Given the description of an element on the screen output the (x, y) to click on. 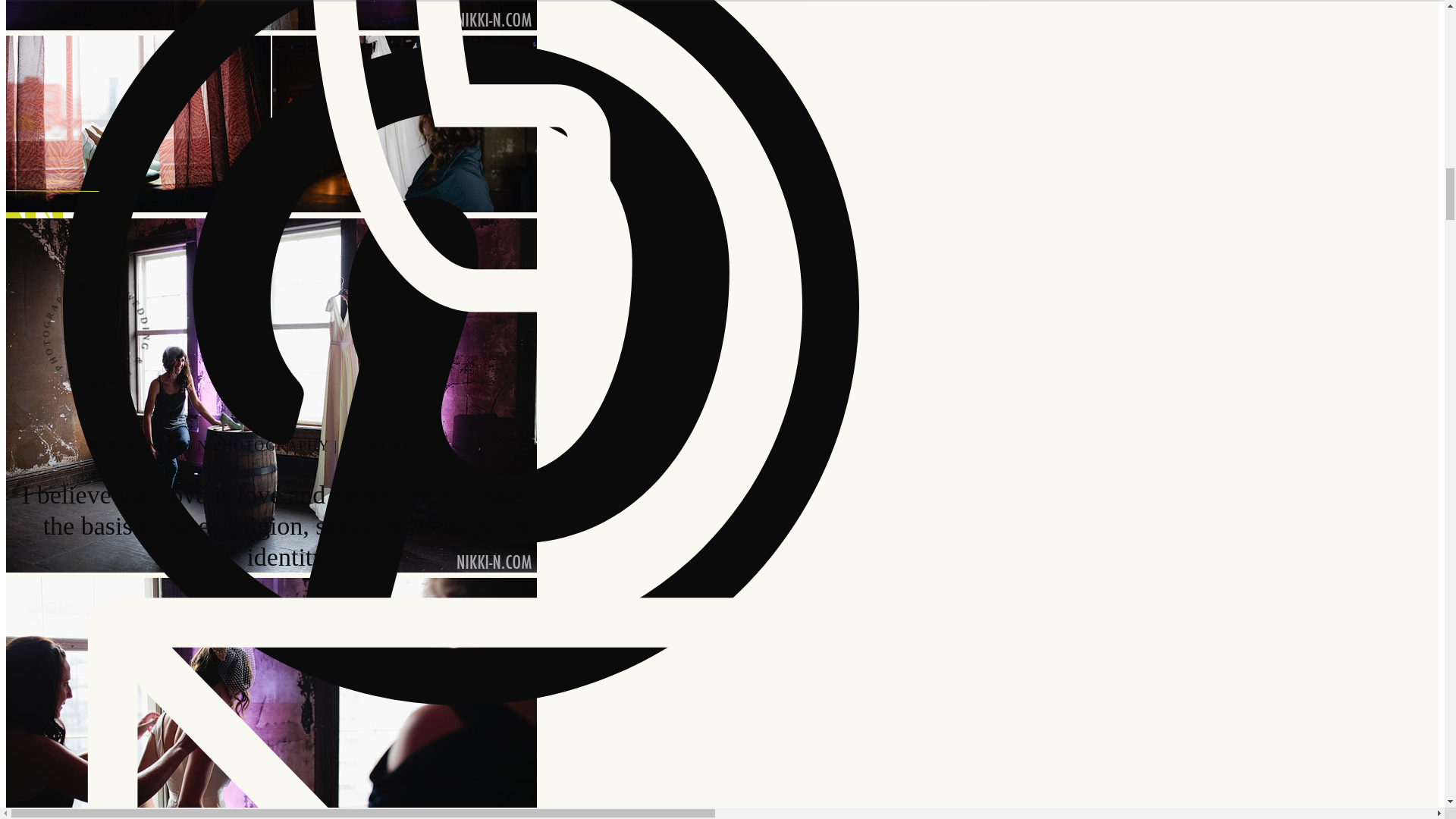
018 (271, 124)
017 (271, 15)
Couples (460, 24)
Weddings (460, 55)
023 (271, 698)
